Given the description of an element on the screen output the (x, y) to click on. 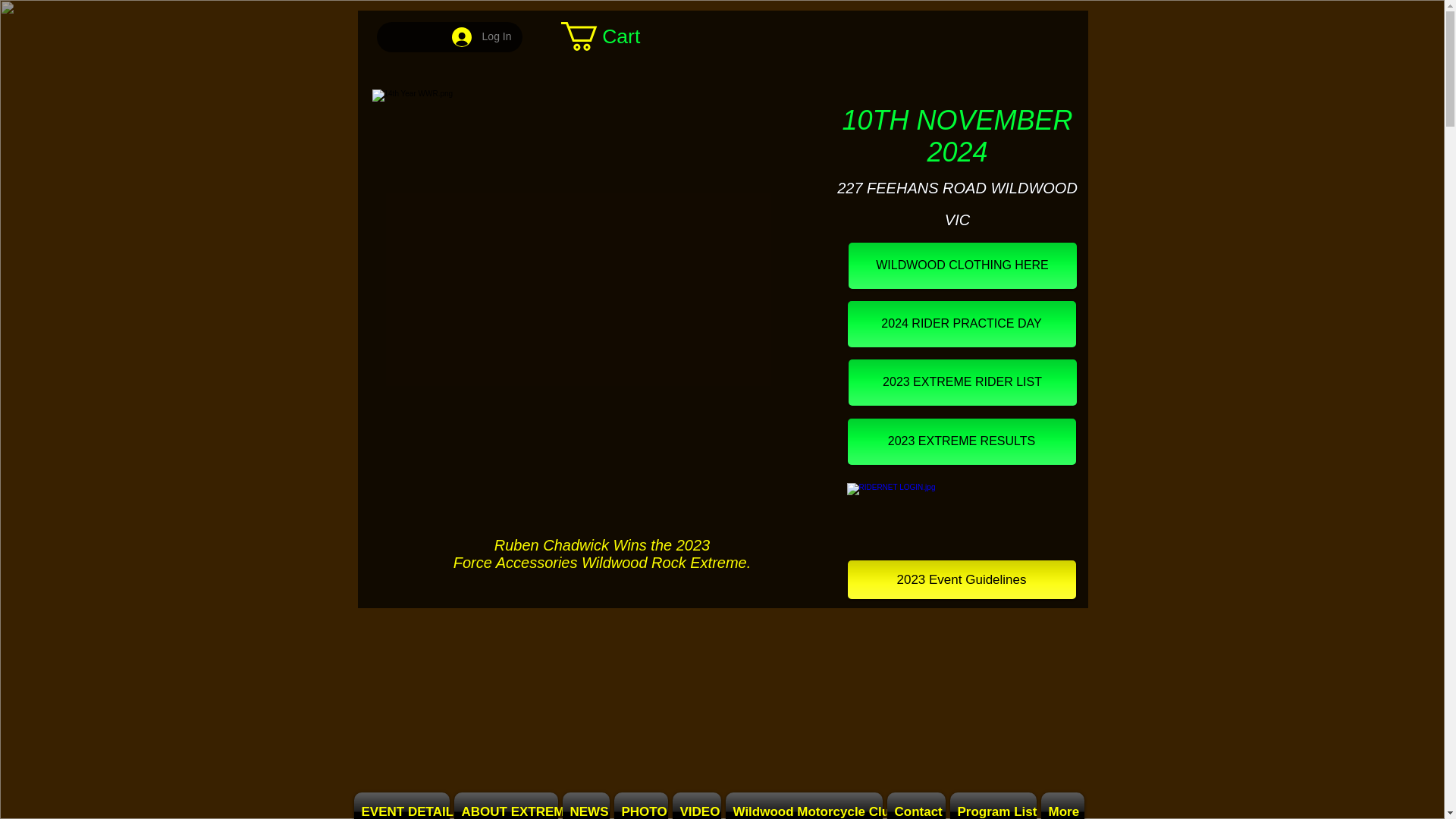
Cart (614, 36)
PHOTO (640, 805)
ABOUT EXTREME (505, 805)
NEWS (585, 805)
EVENT DETAILS (402, 805)
2024 RIDER PRACTICE DAY (961, 324)
Cart (614, 36)
VIDEO (696, 805)
WILDWOOD CLOTHING HERE (961, 265)
2023 EXTREME RESULTS (961, 441)
